Given the description of an element on the screen output the (x, y) to click on. 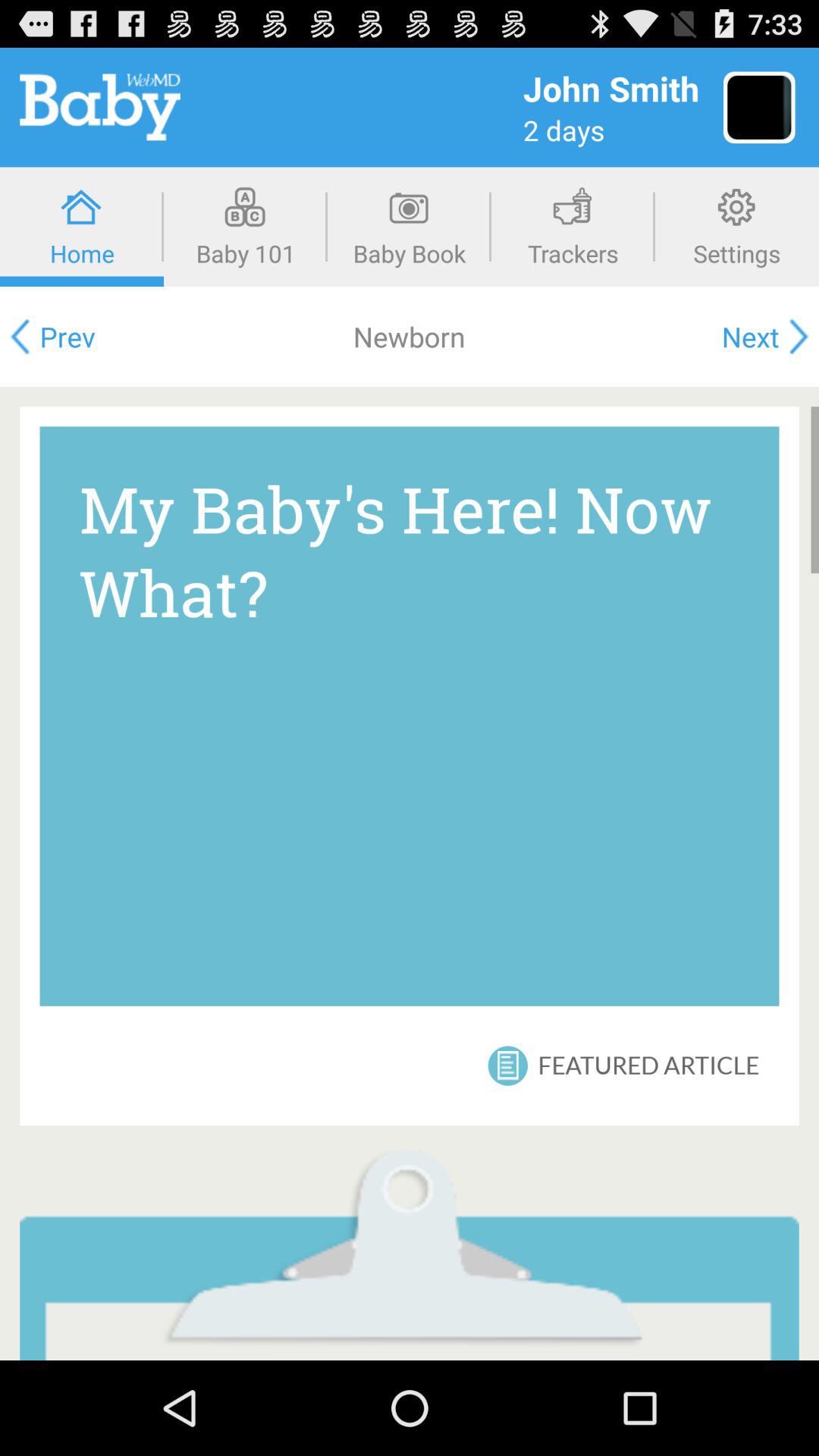
open item at the bottom right corner (648, 1065)
